Given the description of an element on the screen output the (x, y) to click on. 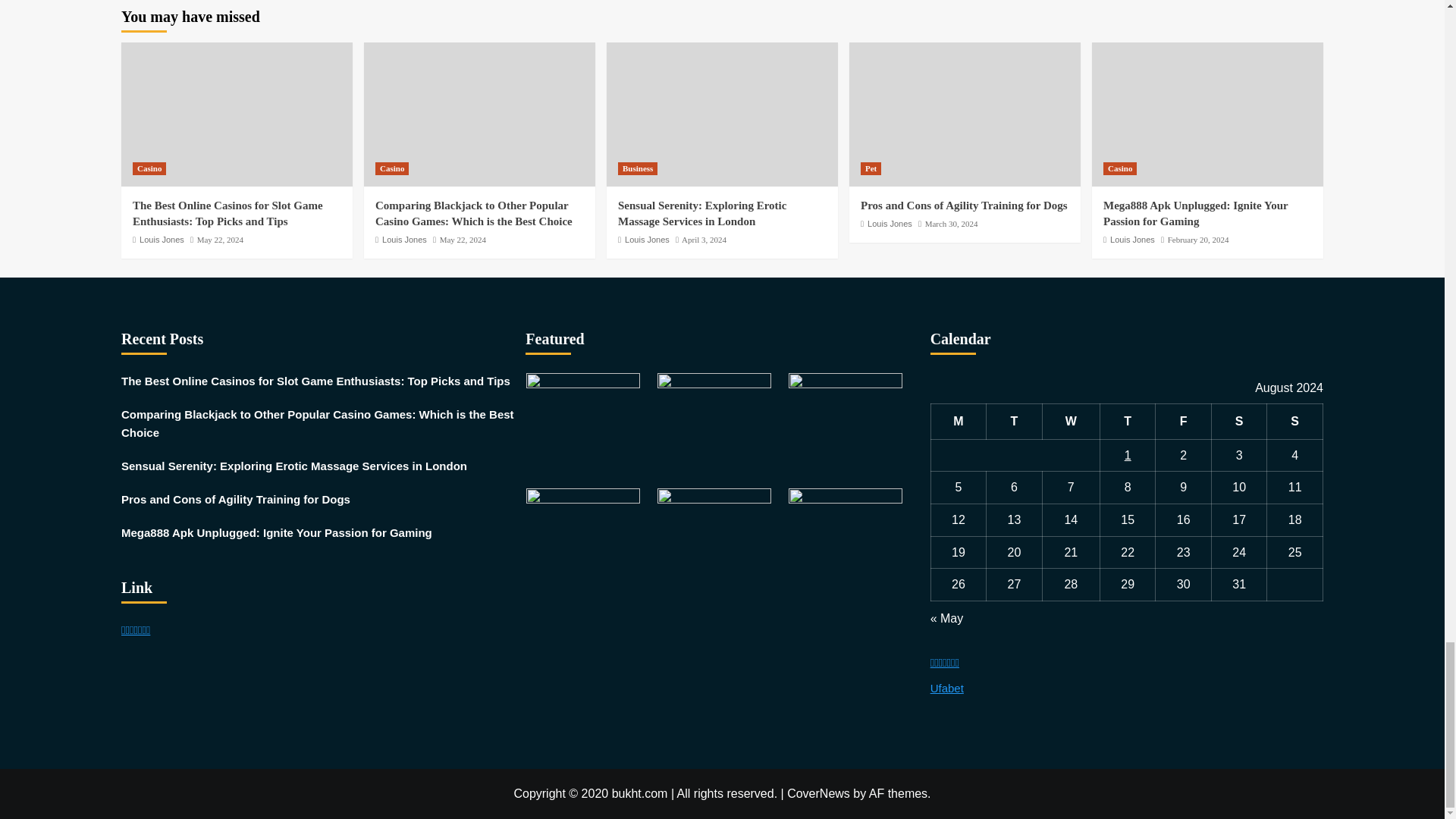
Sunday (1294, 421)
Saturday (1238, 421)
Tuesday (1014, 421)
Monday (958, 421)
Wednesday (1070, 421)
Thursday (1127, 421)
Friday (1183, 421)
